Given the description of an element on the screen output the (x, y) to click on. 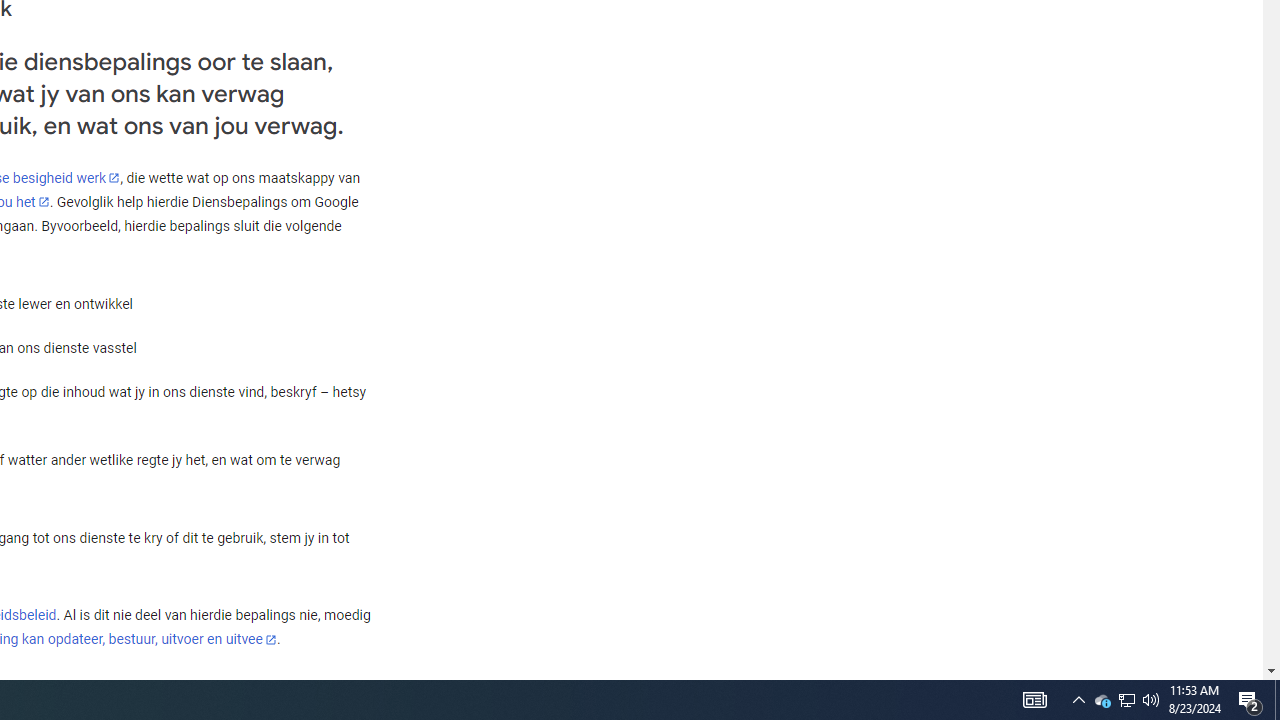
AutomationID: 4105 (1102, 699)
Q2790: 100% (1034, 699)
Action Center, 2 new notifications (1126, 699)
User Promoted Notification Area (1151, 699)
Notification Chevron (1250, 699)
Show desktop (1126, 699)
